Given the description of an element on the screen output the (x, y) to click on. 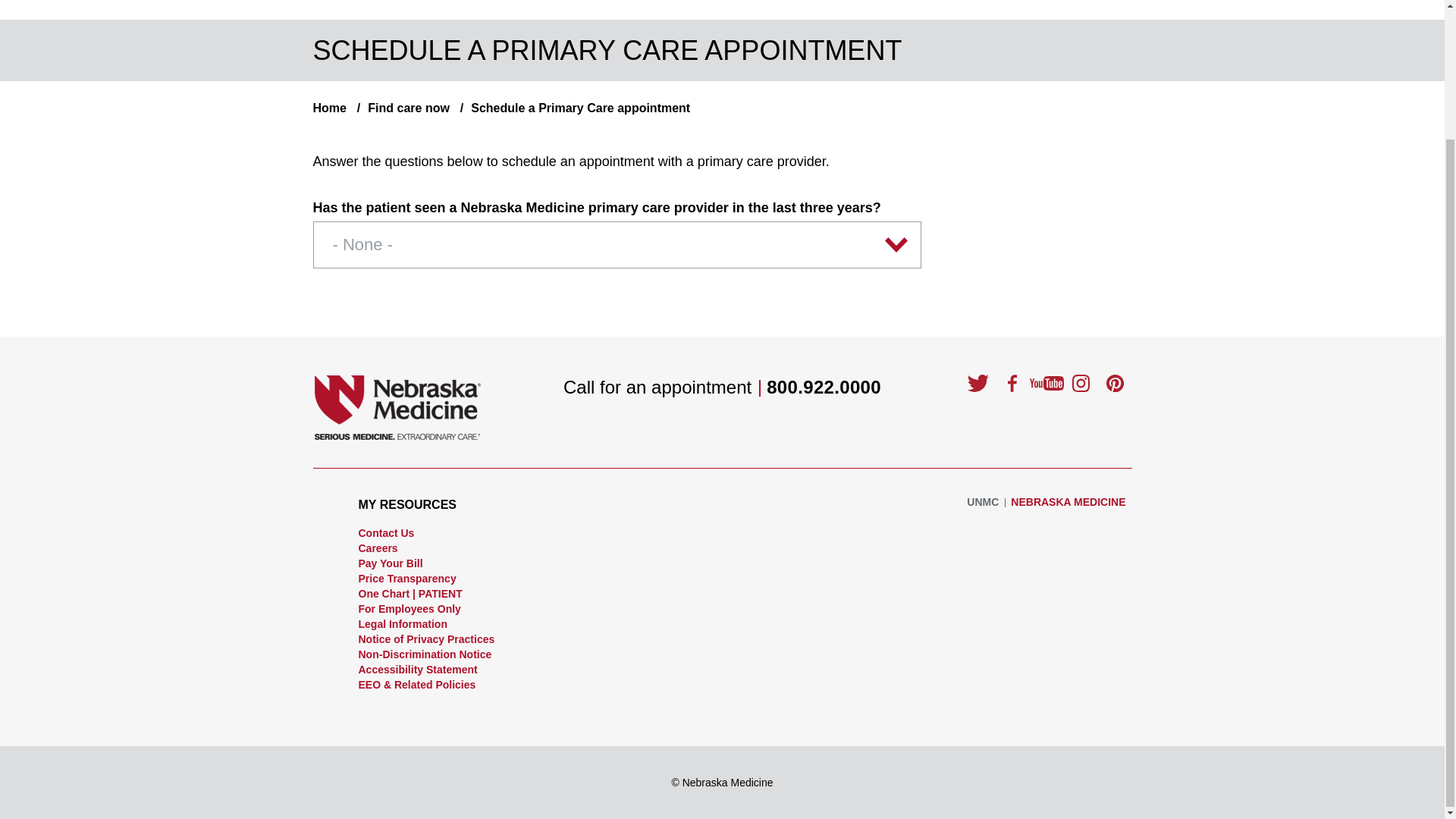
Home (329, 107)
Accessibility Statement for Nebraska Medicine (417, 669)
Schedule a Primary Care appointment (571, 107)
Find care now (399, 107)
- None - (617, 244)
Search (1072, 14)
